Given the description of an element on the screen output the (x, y) to click on. 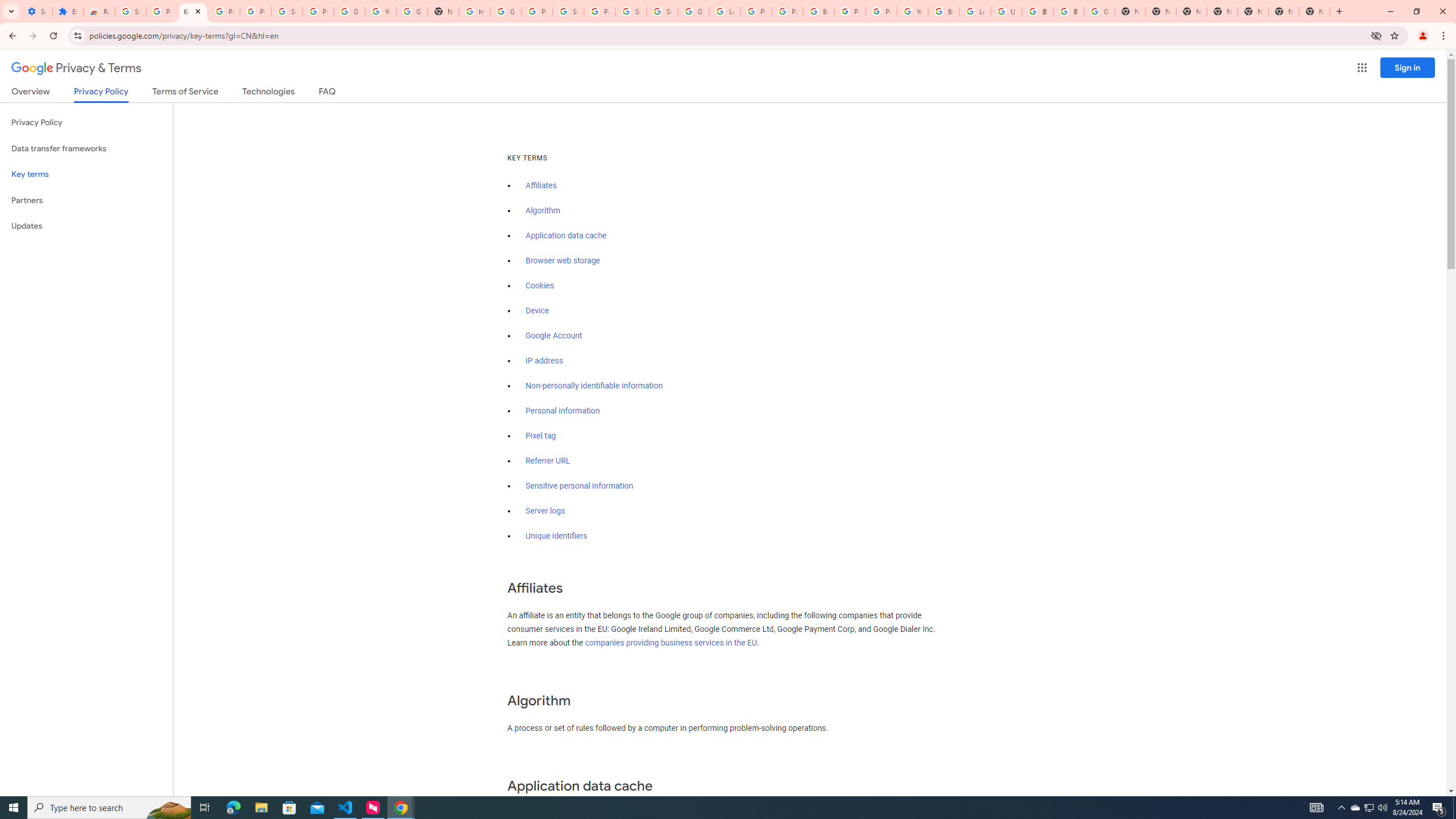
Settings - On startup (36, 11)
Google Account (349, 11)
Google Account (553, 335)
Non-personally identifiable information (593, 385)
Privacy Help Center - Policies Help (787, 11)
Sign in - Google Accounts (631, 11)
